Given the description of an element on the screen output the (x, y) to click on. 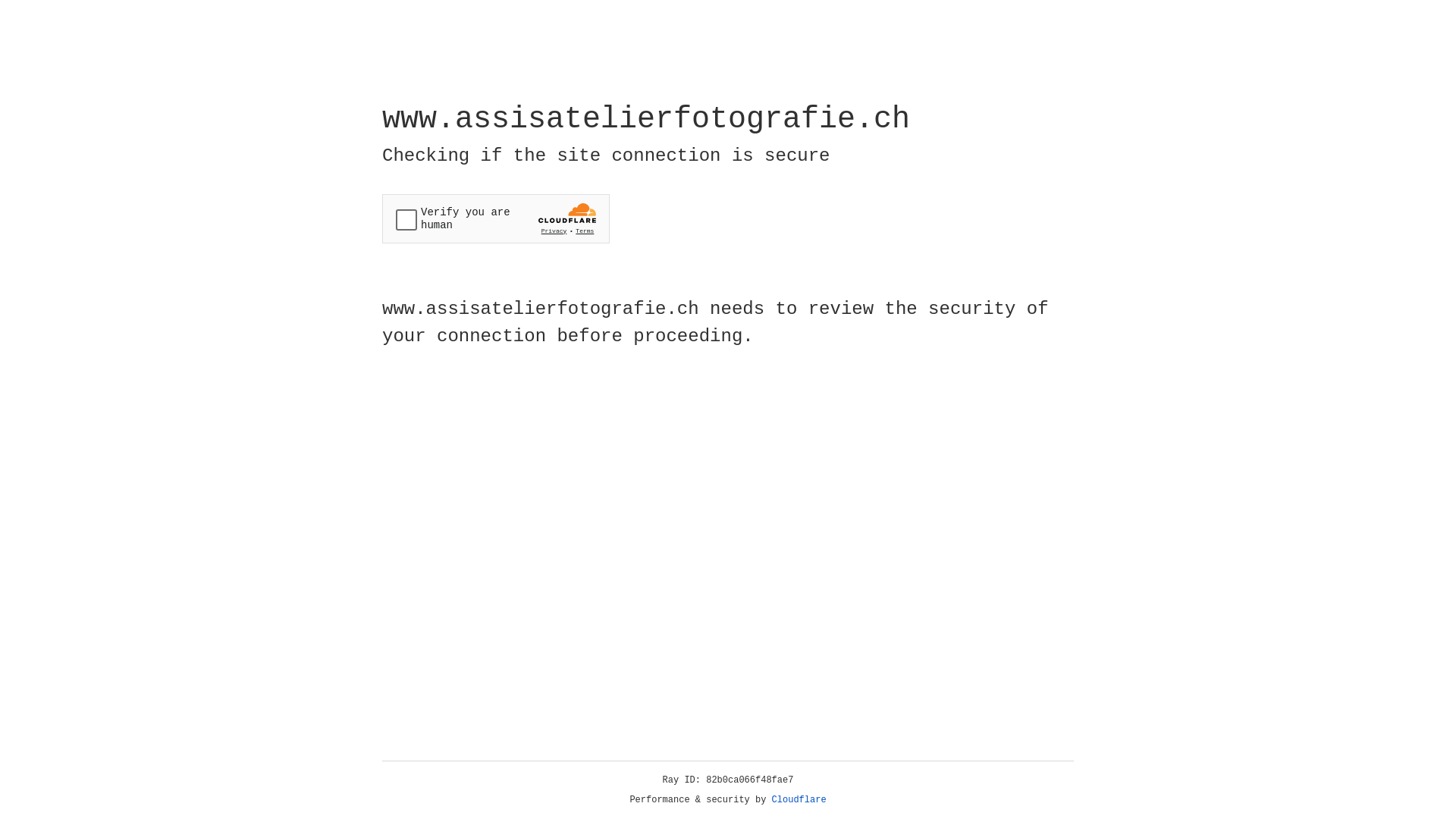
Widget containing a Cloudflare security challenge Element type: hover (495, 218)
Cloudflare Element type: text (798, 799)
